Given the description of an element on the screen output the (x, y) to click on. 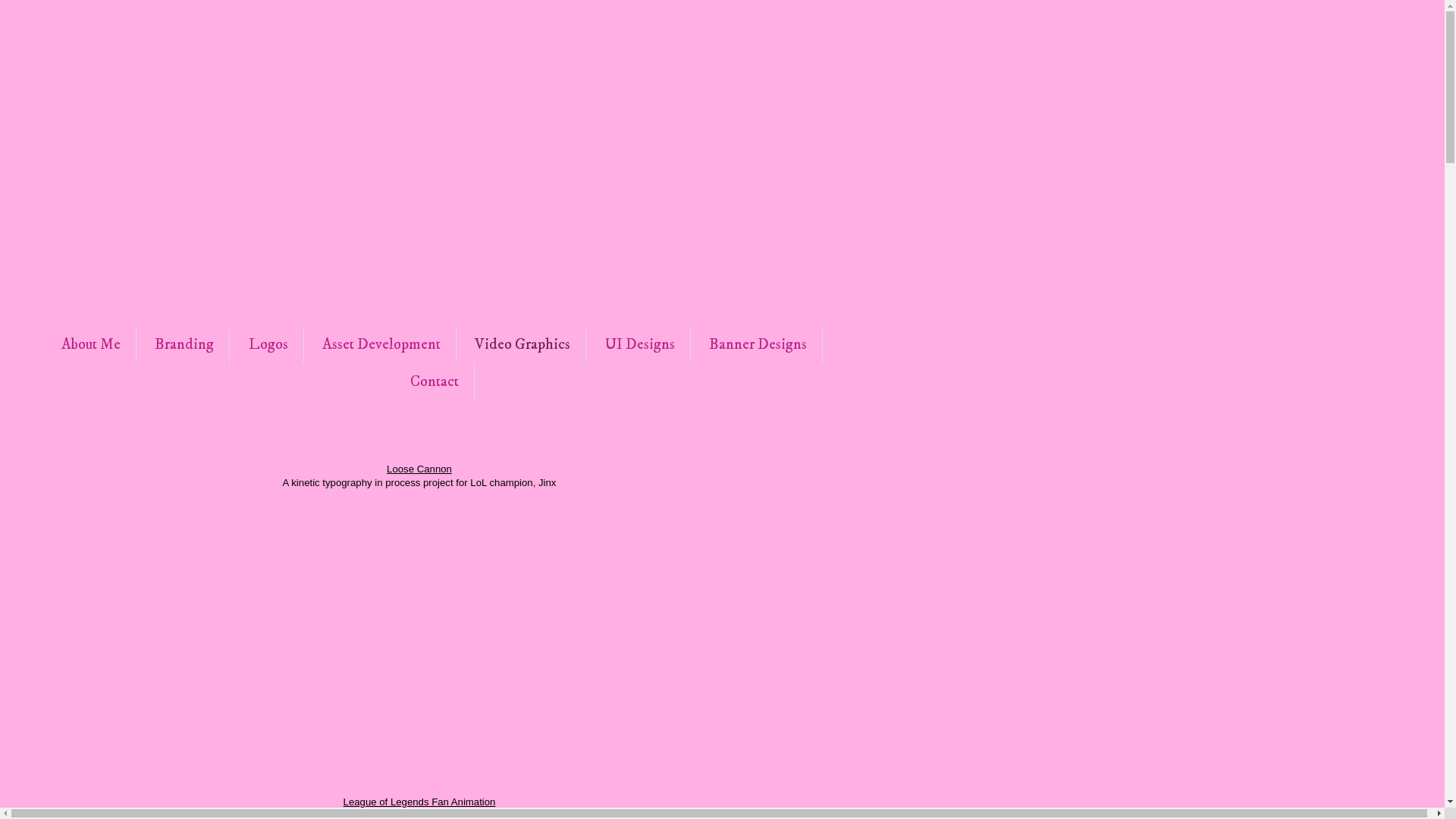
Branding Element type: text (183, 344)
Asset Development Element type: text (381, 344)
About Me Element type: text (91, 344)
Video Graphics Element type: text (522, 344)
UI Designs Element type: text (639, 344)
Logos Element type: text (268, 344)
Banner Designs Element type: text (757, 344)
Contact Element type: text (434, 381)
